Given the description of an element on the screen output the (x, y) to click on. 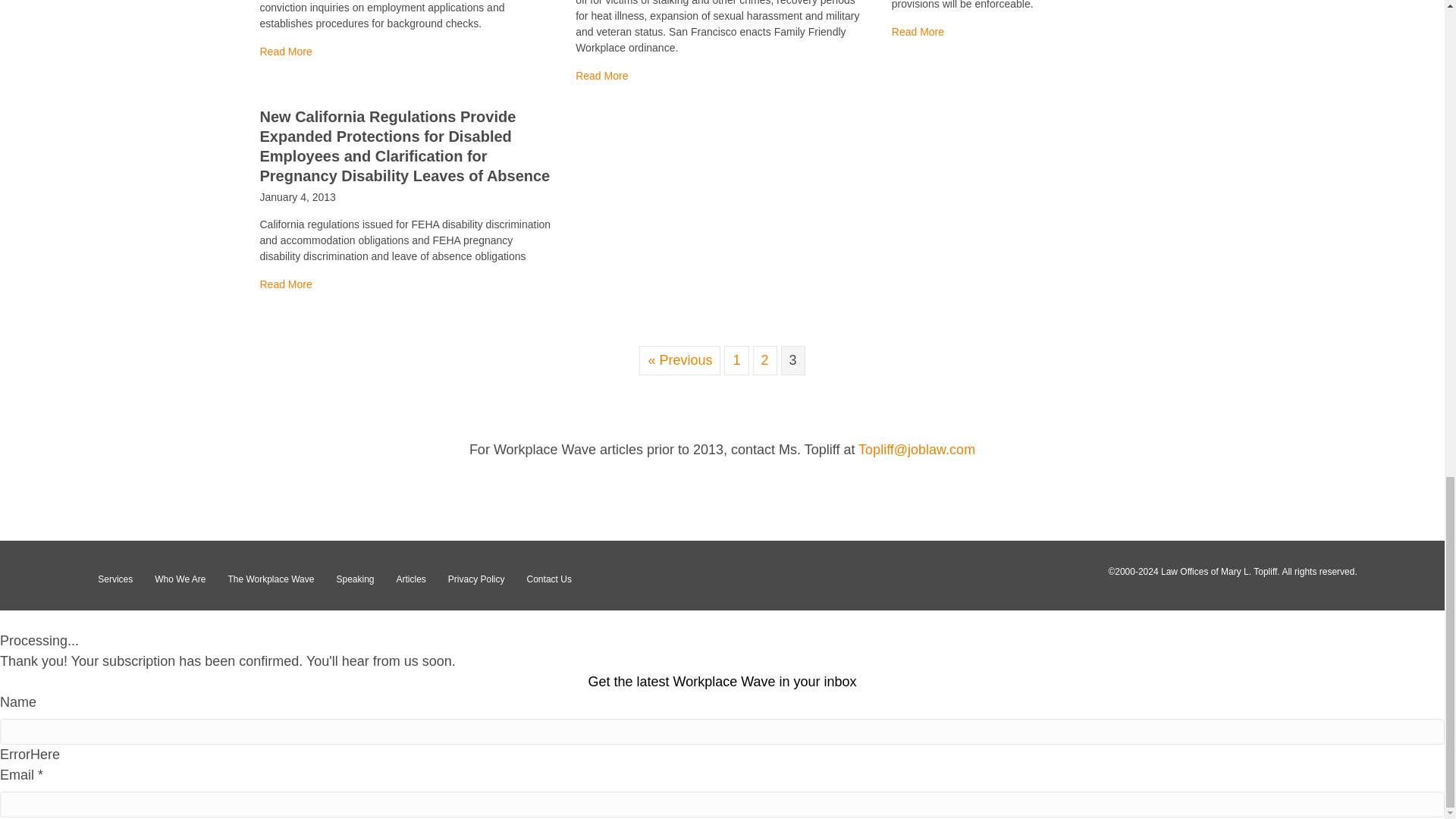
Read More (917, 31)
Who We Are (179, 579)
Read More (285, 284)
Contact Us (549, 579)
The Workplace Wave (270, 579)
Articles (410, 579)
Read More (601, 75)
Read More (917, 31)
Services (114, 579)
